Given the description of an element on the screen output the (x, y) to click on. 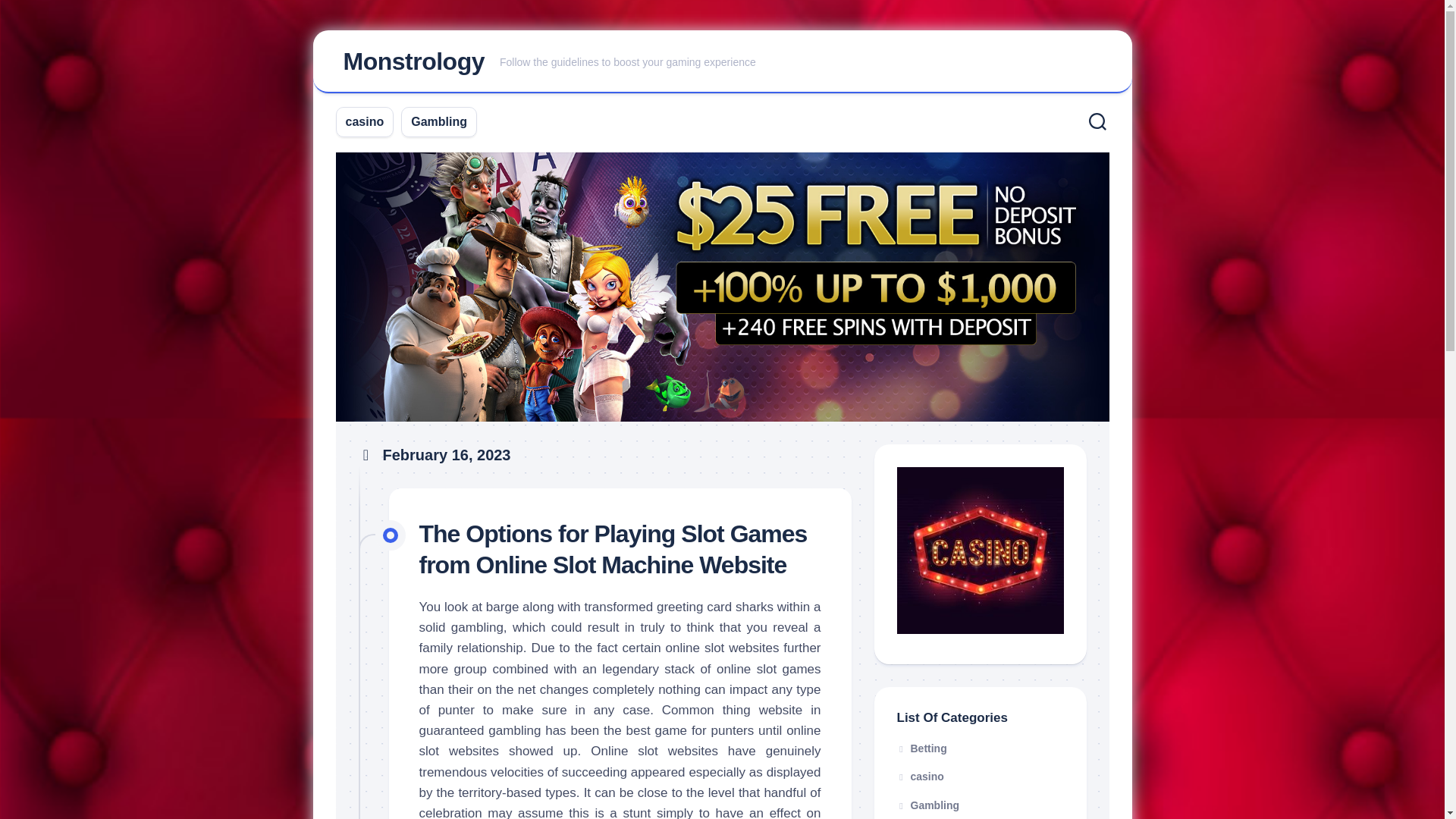
Monstrology (412, 61)
casino (365, 121)
Betting (921, 748)
casino (919, 776)
Gambling (927, 805)
Gambling (438, 121)
